Given the description of an element on the screen output the (x, y) to click on. 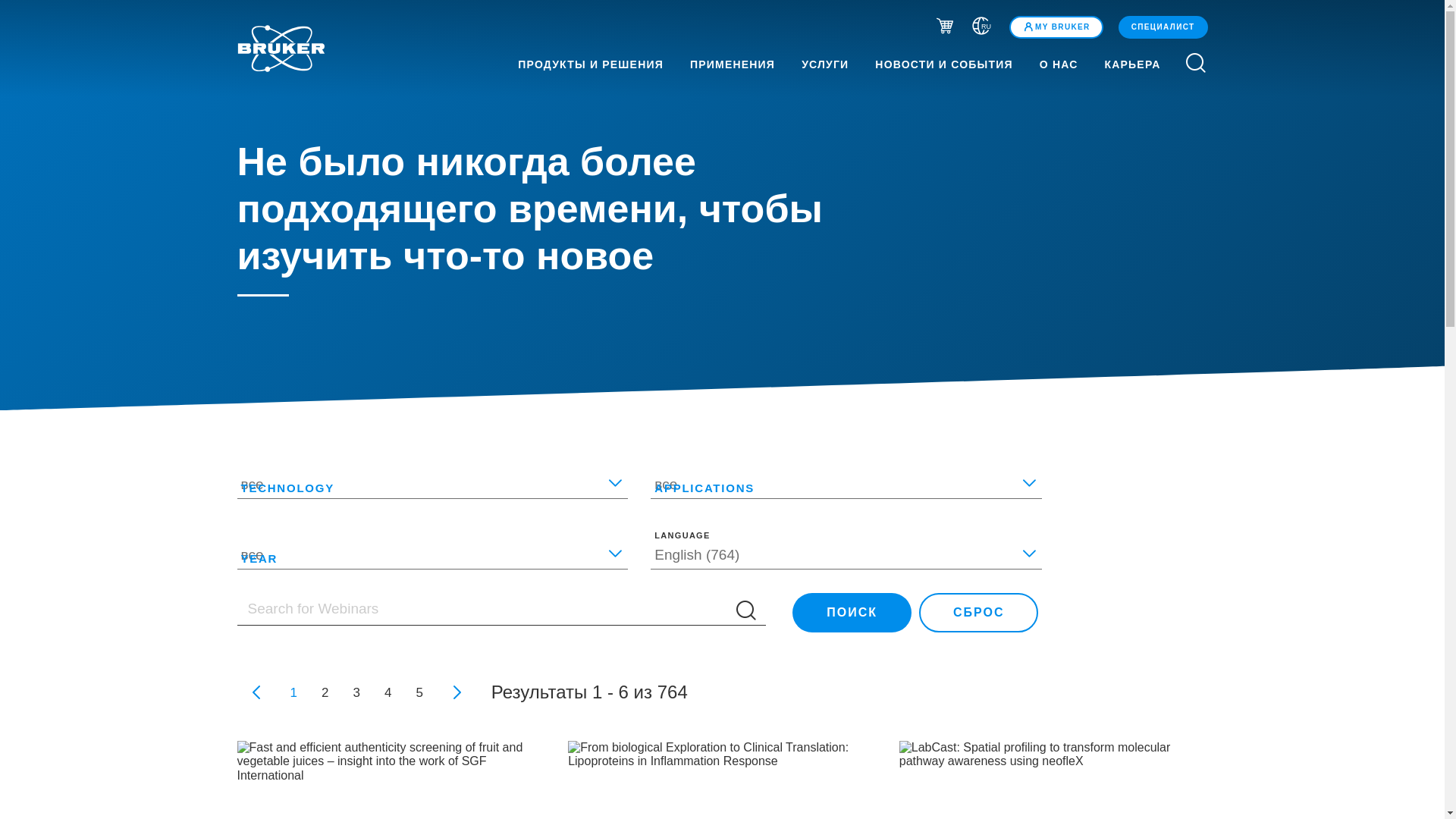
MY BRUKER (1056, 26)
